Given the description of an element on the screen output the (x, y) to click on. 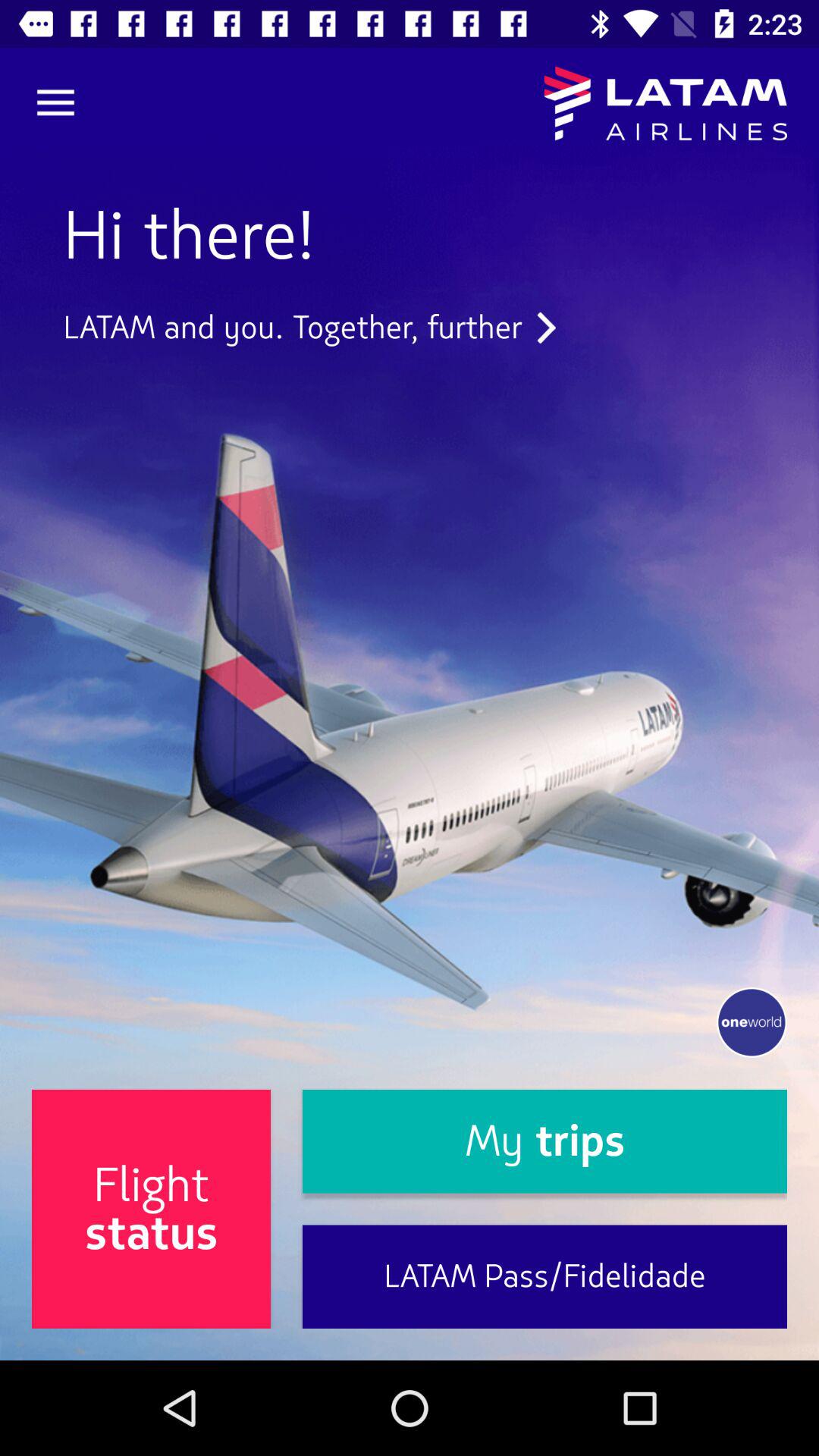
launch the item to the right of the flight
status item (544, 1276)
